Given the description of an element on the screen output the (x, y) to click on. 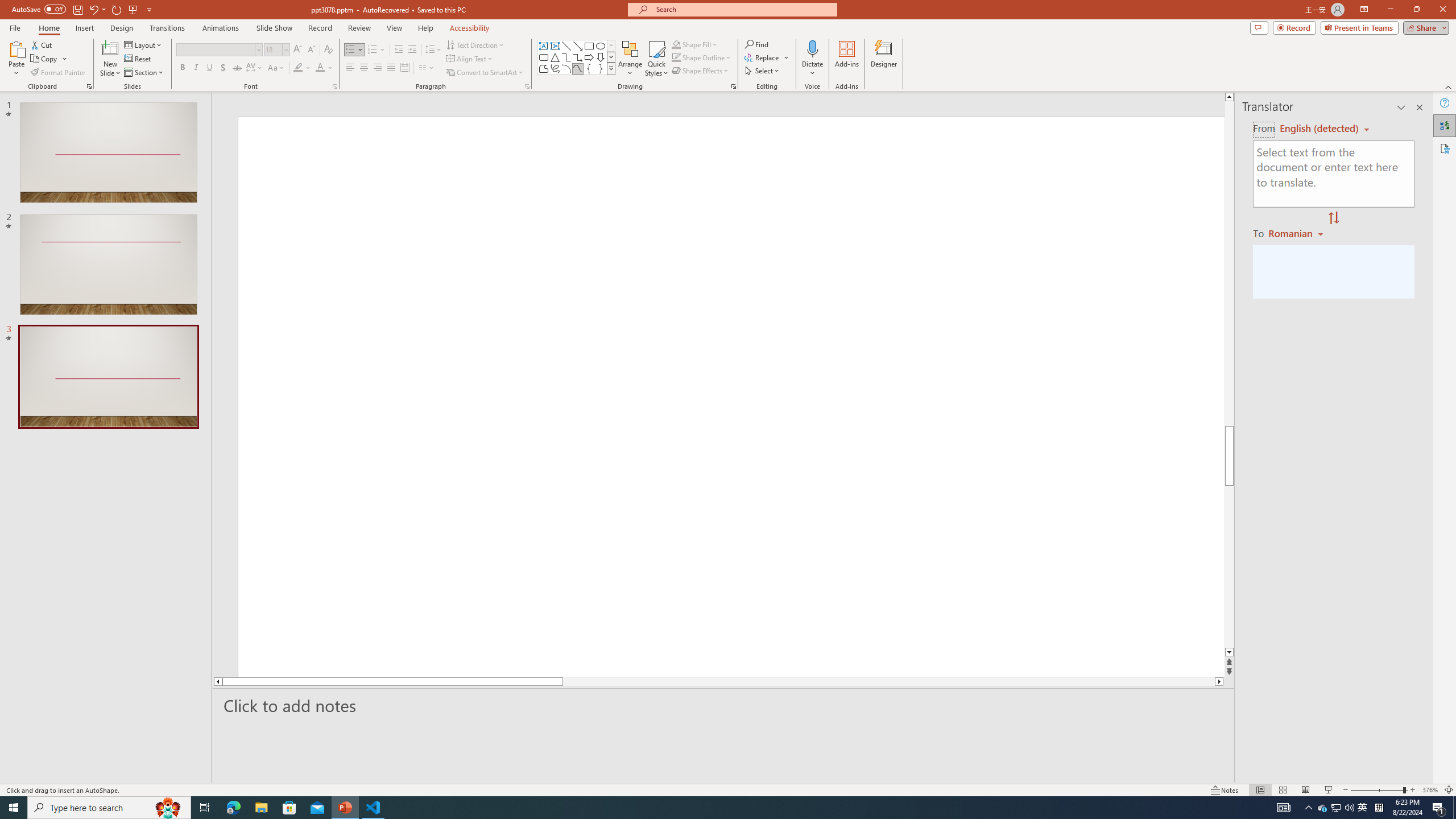
Paragraph... (526, 85)
Layout (143, 44)
Romanian (1296, 232)
Line up (1229, 96)
Numbering (376, 49)
Shape Effects (700, 69)
Increase Indent (412, 49)
Open (285, 49)
Quick Access Toolbar (82, 9)
Review (359, 28)
Minimize (1390, 9)
Line Arrow (577, 45)
